Given the description of an element on the screen output the (x, y) to click on. 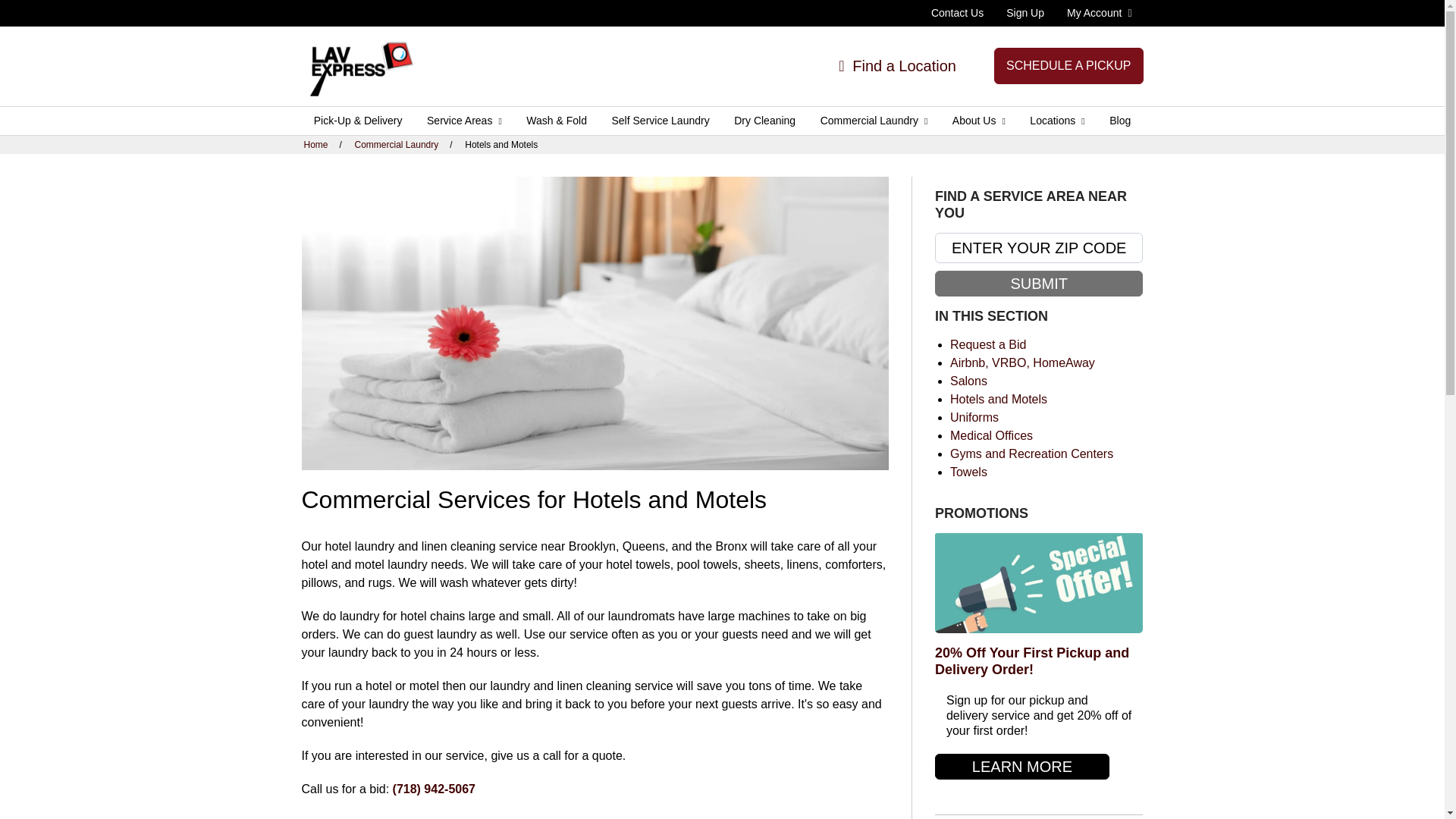
My Account (1099, 12)
Sign Up (1024, 12)
Contact Us (957, 12)
Schedule a Pickup (1068, 65)
Sign Up (1024, 12)
Dry Cleaning (765, 121)
Contact Us (957, 12)
Home (359, 66)
Self Service Laundry (660, 121)
My Account (1099, 12)
Find a Location (897, 65)
SCHEDULE A PICKUP (1068, 65)
Find a Location (897, 65)
